Given the description of an element on the screen output the (x, y) to click on. 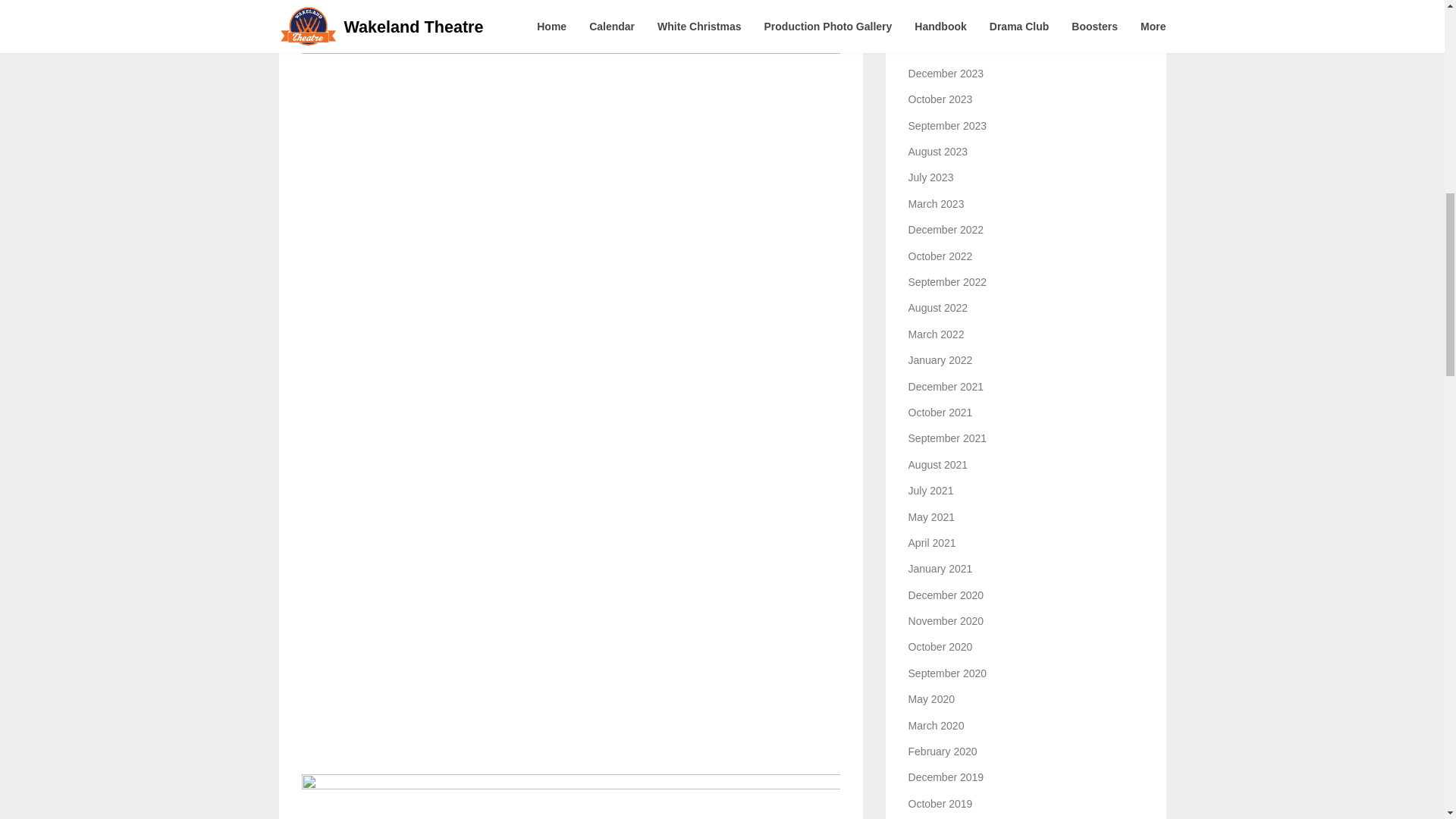
October 2022 (940, 256)
December 2023 (946, 73)
March 2022 (935, 334)
August 2023 (938, 151)
January 2022 (940, 359)
September 2022 (947, 282)
December 2022 (946, 229)
January 2024 (940, 46)
July 2023 (930, 177)
March 2023 (935, 203)
March 2024 (935, 21)
October 2023 (940, 99)
August 2022 (938, 307)
December 2021 (946, 386)
September 2023 (947, 125)
